Given the description of an element on the screen output the (x, y) to click on. 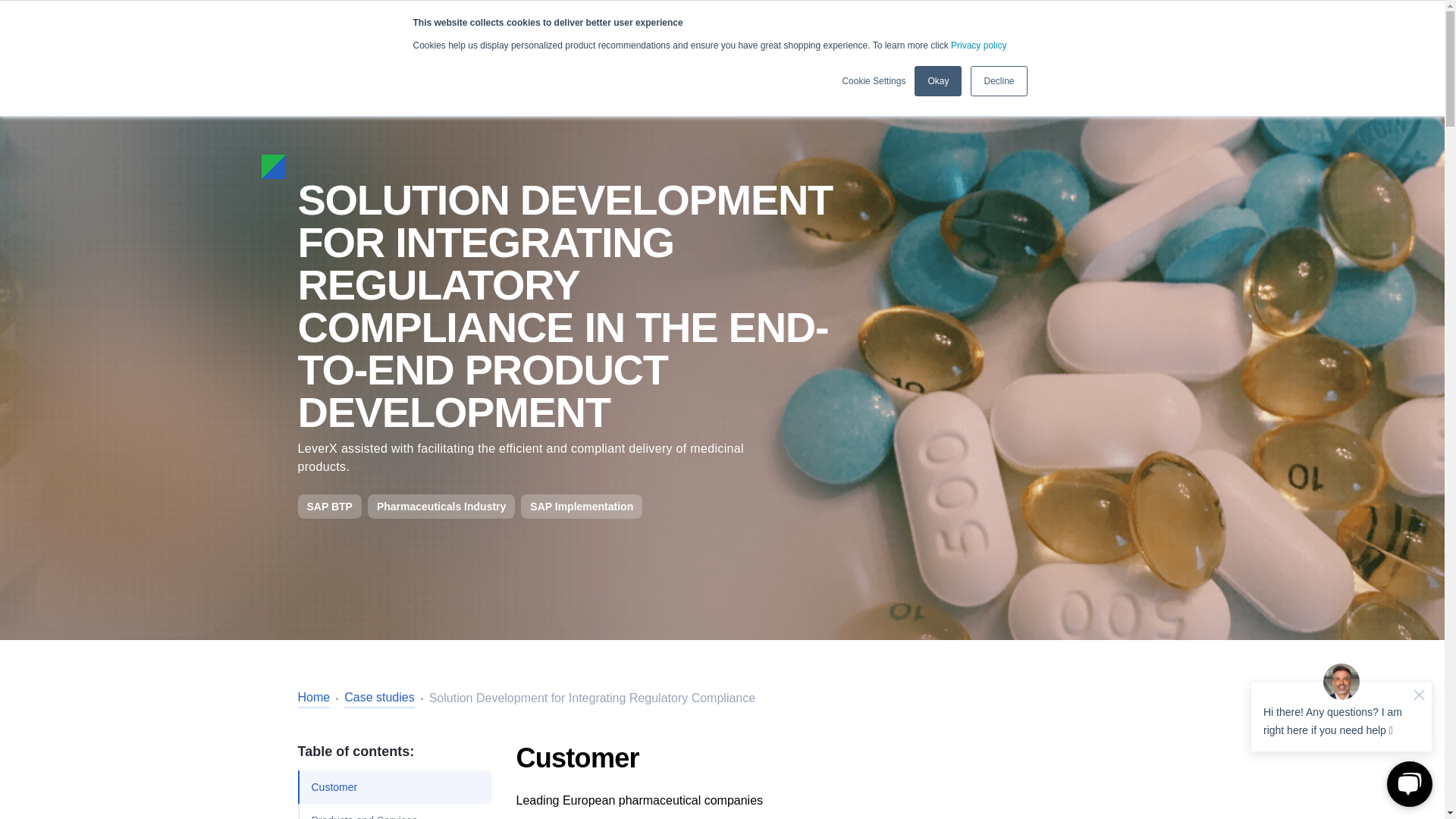
Decline (998, 81)
BUSINESS (336, 4)
CAREER (410, 6)
Privacy policy (978, 45)
SERVICES (463, 66)
Okay (937, 81)
Cookie Settings (873, 80)
